Given the description of an element on the screen output the (x, y) to click on. 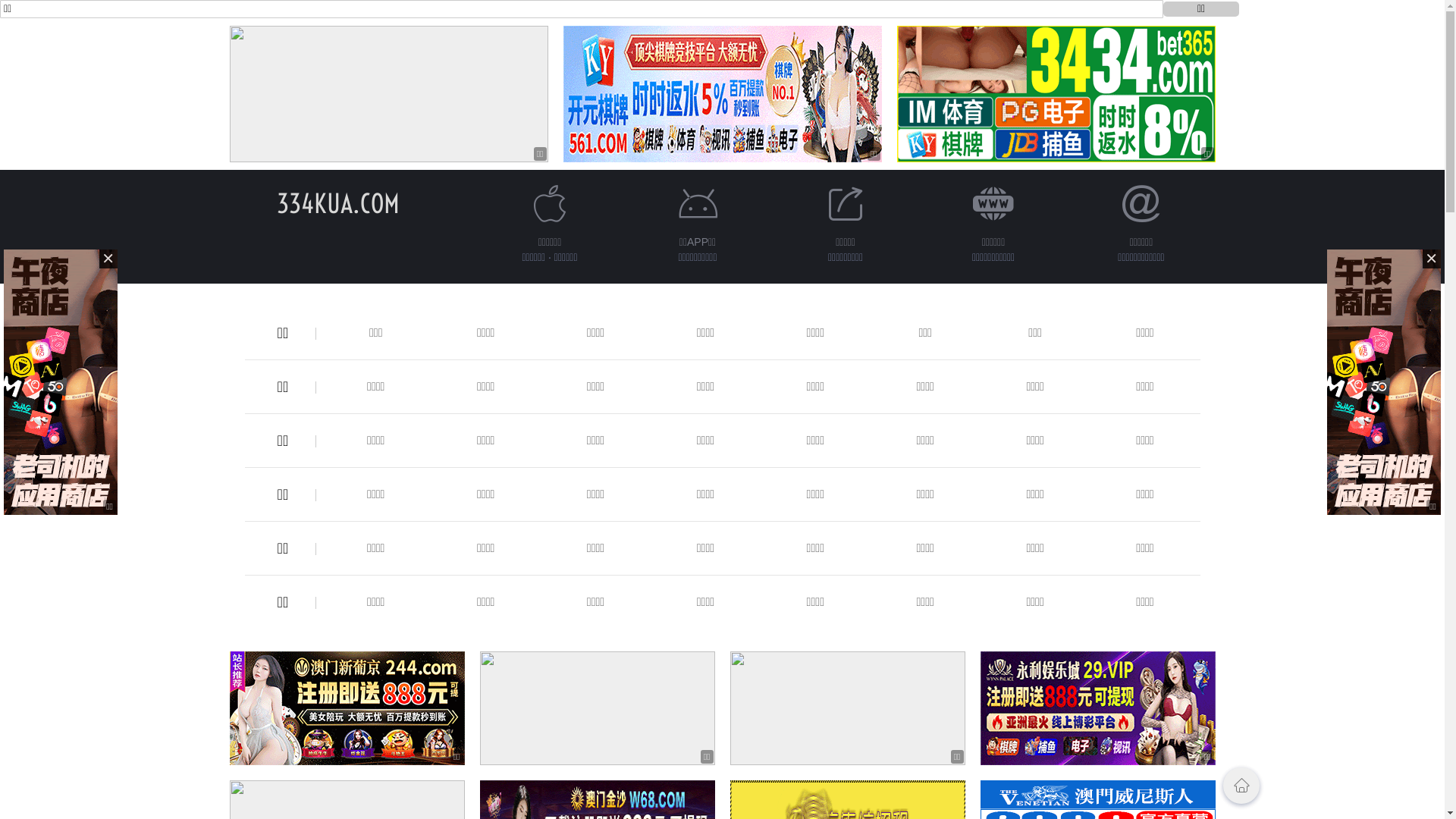
334KUA.COM Element type: text (337, 203)
